Given the description of an element on the screen output the (x, y) to click on. 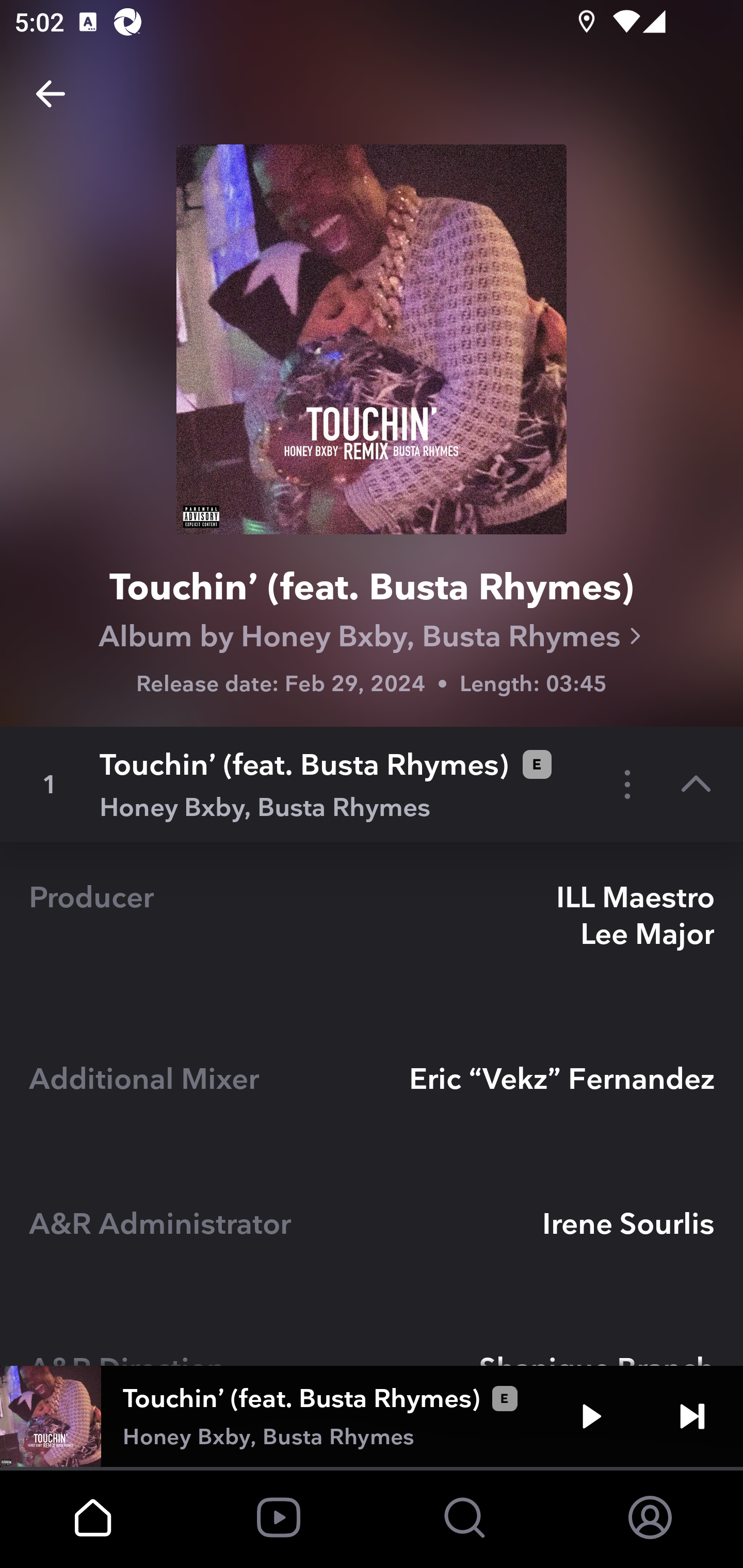
Back (50, 93)
Touchin’ (feat. Busta Rhymes) (371, 589)
Album by Honey Bxby, Busta Rhymes (371, 636)
Producer ILL Maestro
Lee Major
 (371, 932)
Additional Mixer Eric “Vekz” Fernandez
 (371, 1095)
A&R Administrator Irene Sourlis
 (371, 1240)
Play (590, 1416)
